Given the description of an element on the screen output the (x, y) to click on. 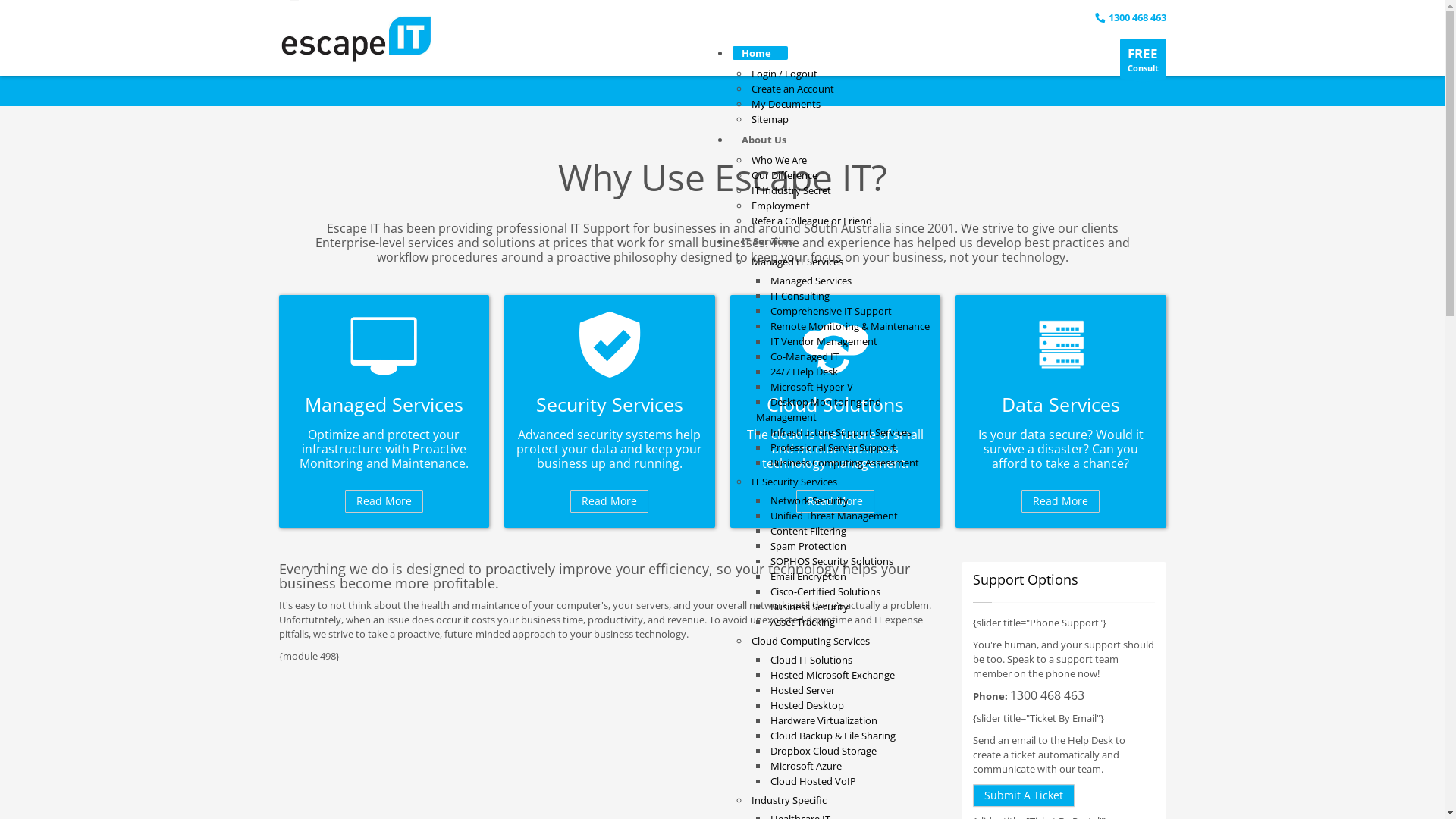
Submit A Ticket Element type: text (1022, 795)
Email Encryption Element type: text (808, 576)
Who We Are Element type: text (778, 159)
Microsoft Azure Element type: text (805, 765)
Get in Touch! Element type: text (867, 53)
Data Services Element type: text (1060, 404)
Managed IT Services Element type: text (796, 261)
Cloud Backup & File Sharing Element type: text (832, 735)
Cisco-Certified Solutions Element type: text (825, 591)
Microsoft Hyper-V Element type: text (811, 386)
Industry Specific Element type: text (787, 799)
Our Difference Element type: text (783, 175)
Refer a Colleague or Friend Element type: text (810, 220)
Comprehensive IT Support Element type: text (830, 310)
Business Computing Assessment Element type: text (844, 462)
Read More Element type: text (384, 500)
Read More Element type: text (609, 500)
Hosted Desktop Element type: text (807, 705)
Business Security Element type: text (809, 606)
Security Services Element type: text (609, 404)
Spam Protection Element type: text (808, 545)
Sitemap Element type: text (768, 118)
Content Filtering Element type: text (808, 530)
Unified Threat Management Element type: text (833, 515)
Cloud Hosted VoIP Element type: text (813, 780)
Cloud Computing Services Element type: text (809, 640)
About Us Element type: text (767, 139)
Read More Element type: text (1060, 500)
1300 468 463 Element type: text (1047, 695)
Dropbox Cloud Storage Element type: text (823, 750)
FREE
Consult Element type: text (1142, 58)
Cloud Solutions Element type: text (834, 404)
Managed Services Element type: text (383, 404)
1300 468 463 Element type: text (1130, 17)
Home Element type: hover (356, 38)
Remote Monitoring & Maintenance Element type: text (849, 325)
Asset Tracking Element type: text (802, 621)
Read More Element type: text (835, 500)
Professional Server Support Element type: text (833, 447)
Managed Services Element type: text (810, 280)
IT Vendor Management Element type: text (823, 341)
Hardware Virtualization Element type: text (823, 720)
Co-Managed IT Element type: text (804, 356)
Desktop Monitoring and Management Element type: text (817, 409)
IT Industry Secret Element type: text (790, 190)
Create an Account Element type: text (791, 88)
IT Security Services Element type: text (793, 481)
Home Element type: text (759, 52)
Login / Logout Element type: text (783, 73)
Hosted Server Element type: text (802, 689)
IT Services Element type: text (770, 240)
Employment Element type: text (779, 205)
IT Consulting Element type: text (799, 295)
24/7 Help Desk Element type: text (803, 371)
My Documents Element type: text (784, 103)
Hosted Microsoft Exchange Element type: text (832, 674)
Infrastructure Support Services Element type: text (840, 432)
Network Security Element type: text (809, 500)
Cloud IT Solutions Element type: text (811, 659)
SOPHOS Security Solutions Element type: text (831, 561)
